Given the description of an element on the screen output the (x, y) to click on. 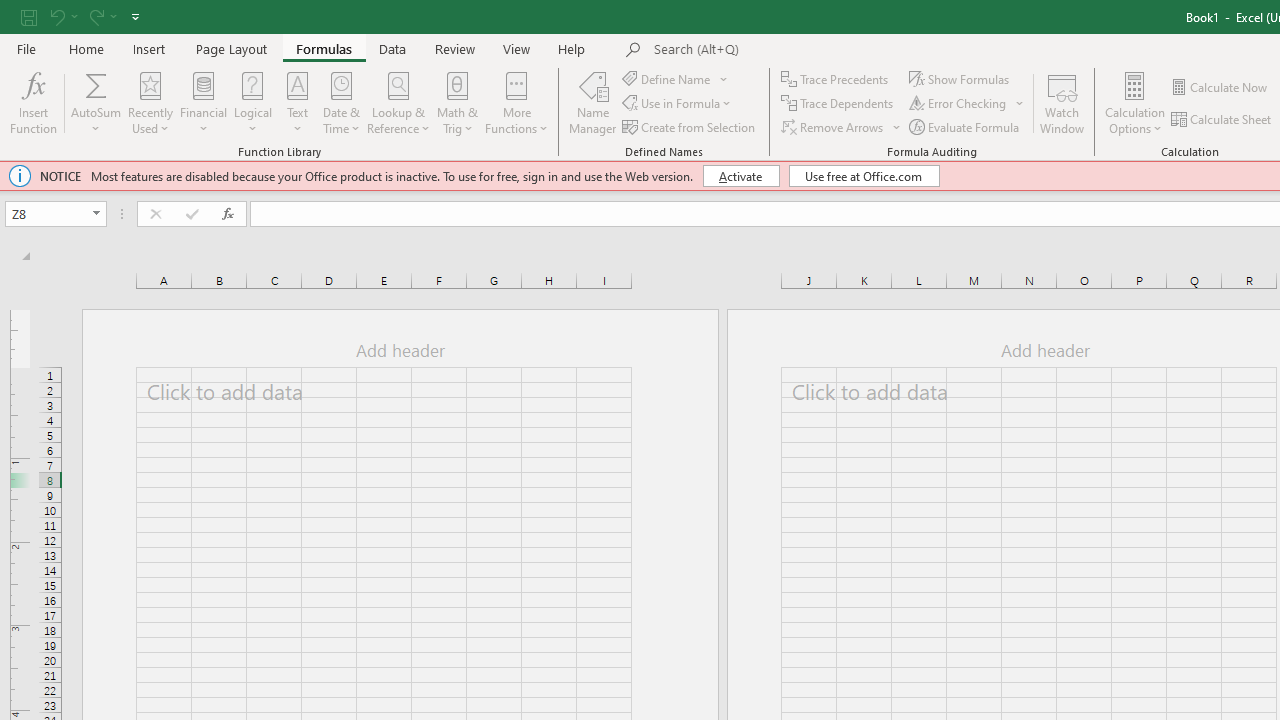
More Functions (516, 102)
Evaluate Formula (966, 126)
Use in Formula (678, 103)
Sum (96, 84)
Lookup & Reference (398, 102)
Define Name... (667, 78)
Math & Trig (458, 102)
Error Checking... (959, 103)
Calculate Sheet (1222, 119)
Watch Window (1062, 102)
